Given the description of an element on the screen output the (x, y) to click on. 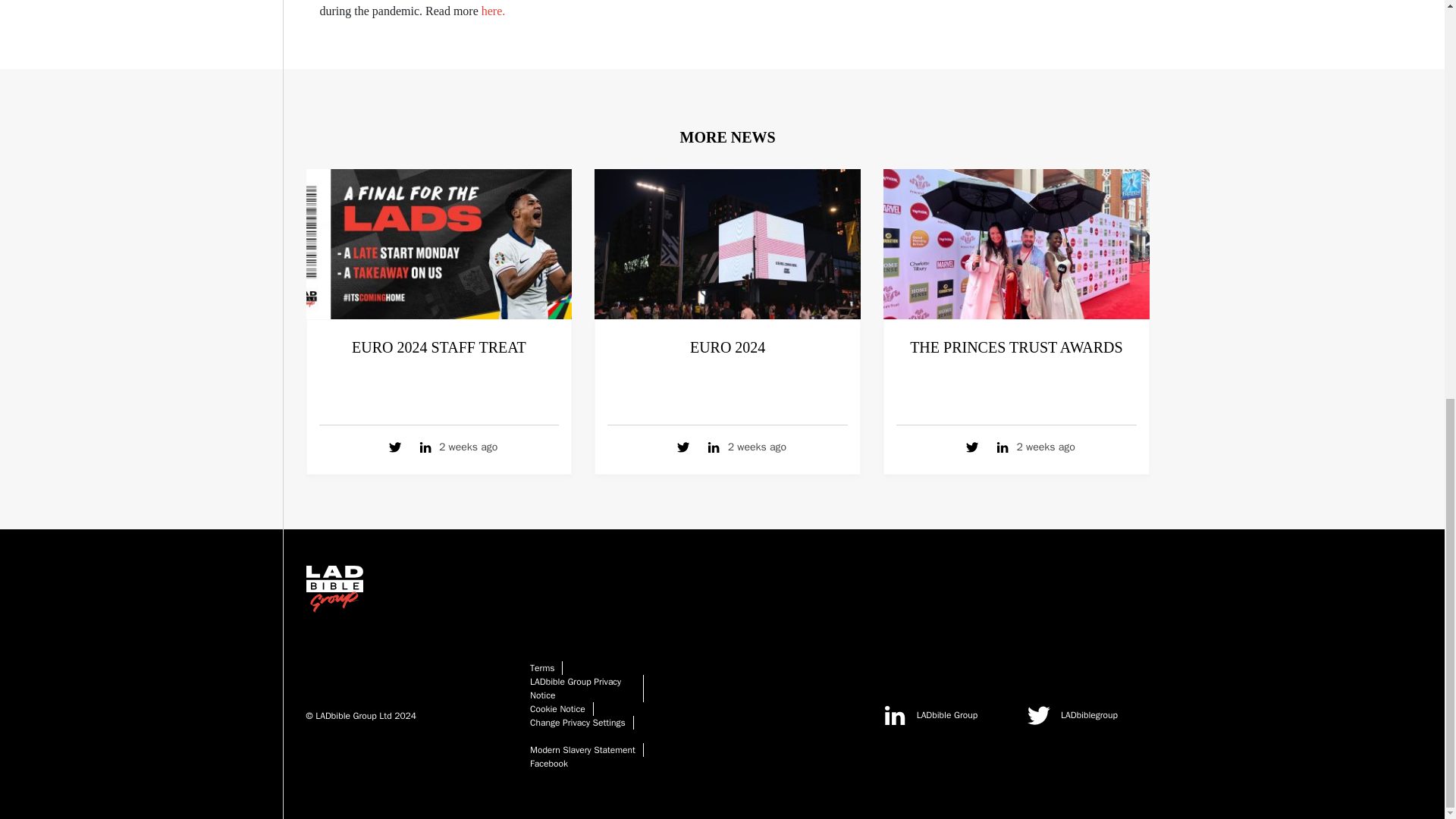
LADbible Group (943, 714)
Change Privacy Settings (577, 722)
THE PRINCES TRUST AWARDS (1016, 347)
Facebook (548, 763)
LADbiblegroup (1087, 714)
here.  (494, 10)
Modern Slavery Statement (581, 749)
Terms (541, 667)
EURO 2024 (727, 347)
EURO 2024 STAFF TREAT (438, 347)
LADbible Group Privacy Notice (575, 688)
Cookie Notice (557, 708)
